Given the description of an element on the screen output the (x, y) to click on. 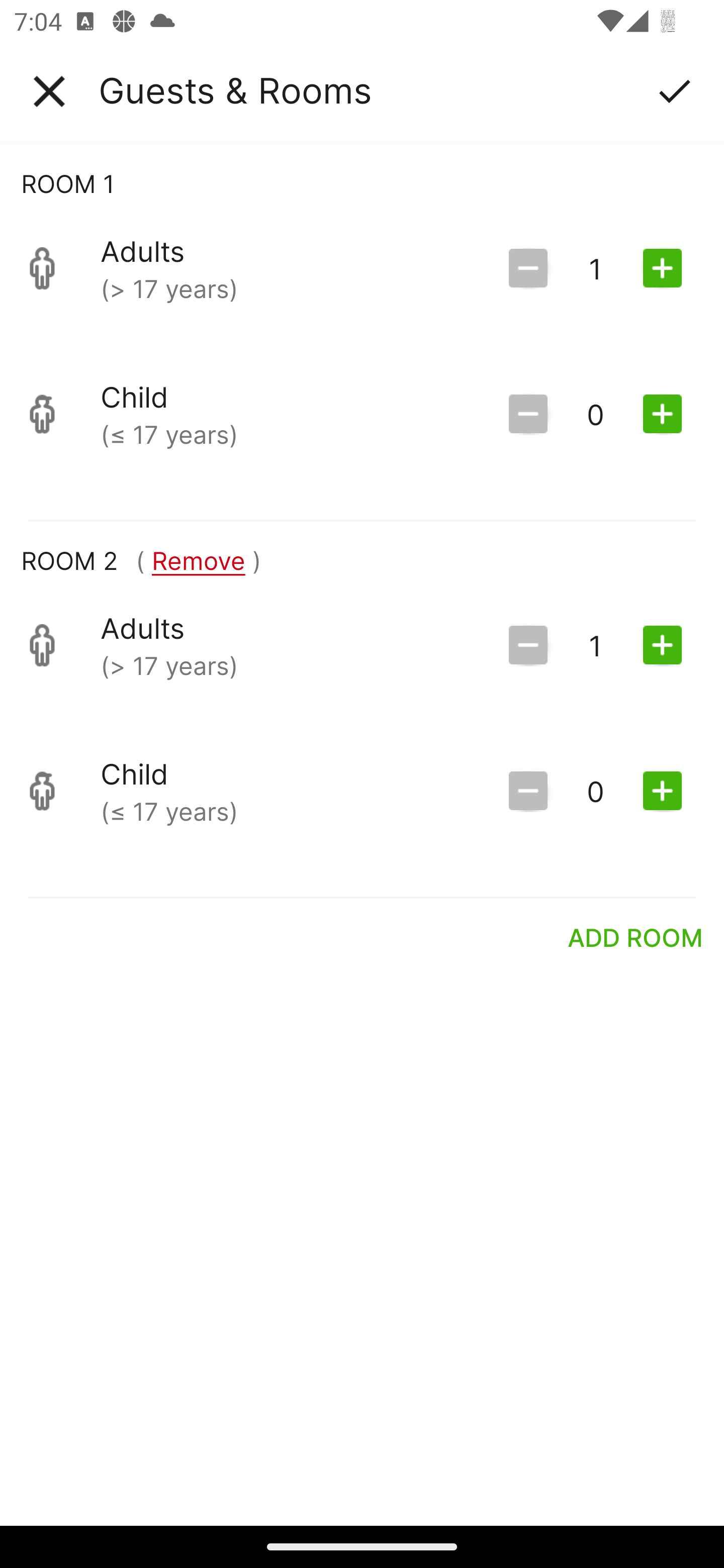
( Remove ) (198, 560)
ADD ROOM (635, 936)
